Given the description of an element on the screen output the (x, y) to click on. 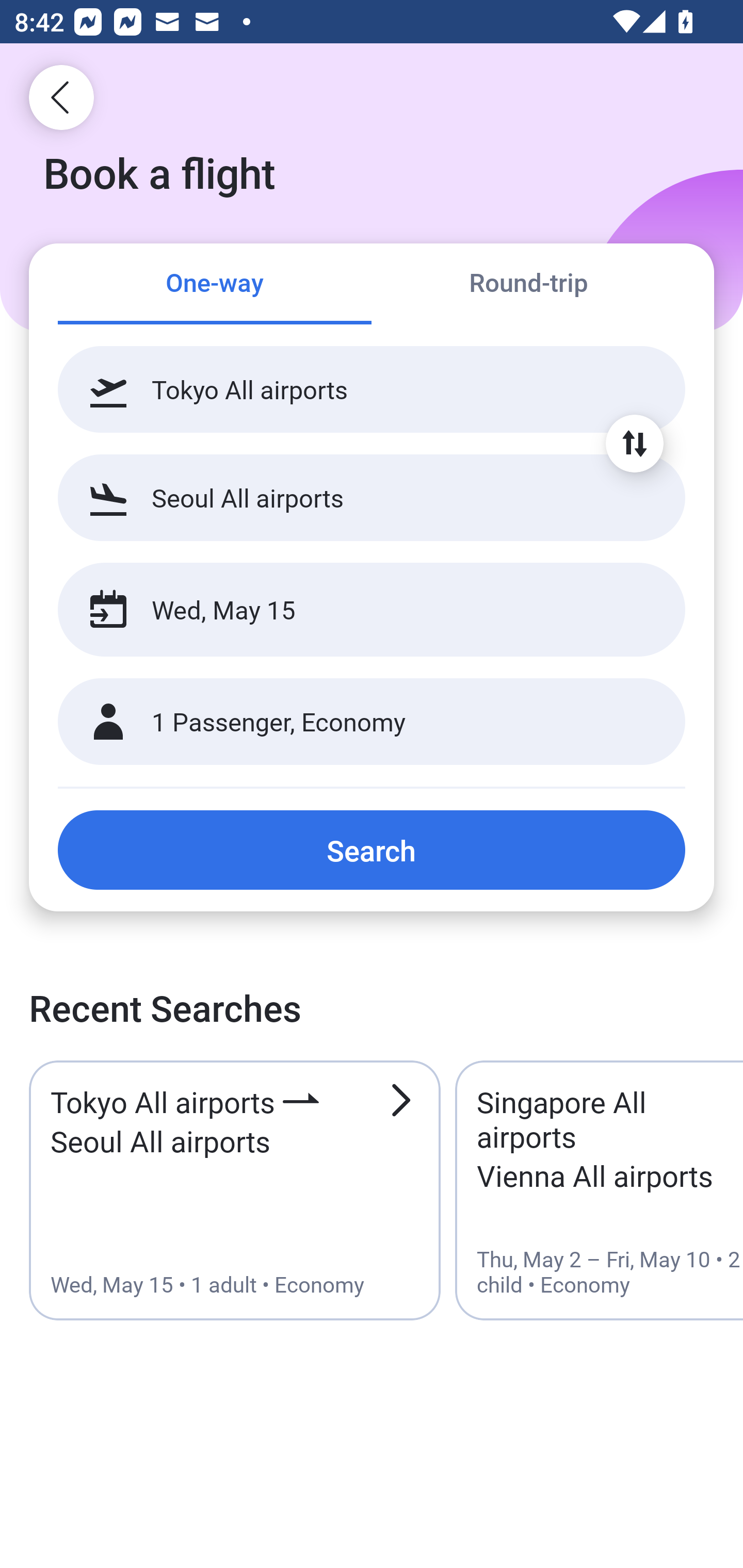
Round-trip (528, 284)
Tokyo All airports (371, 389)
Seoul All airports (371, 497)
Wed, May 15 (349, 609)
1 Passenger, Economy (371, 721)
Search (371, 849)
